Given the description of an element on the screen output the (x, y) to click on. 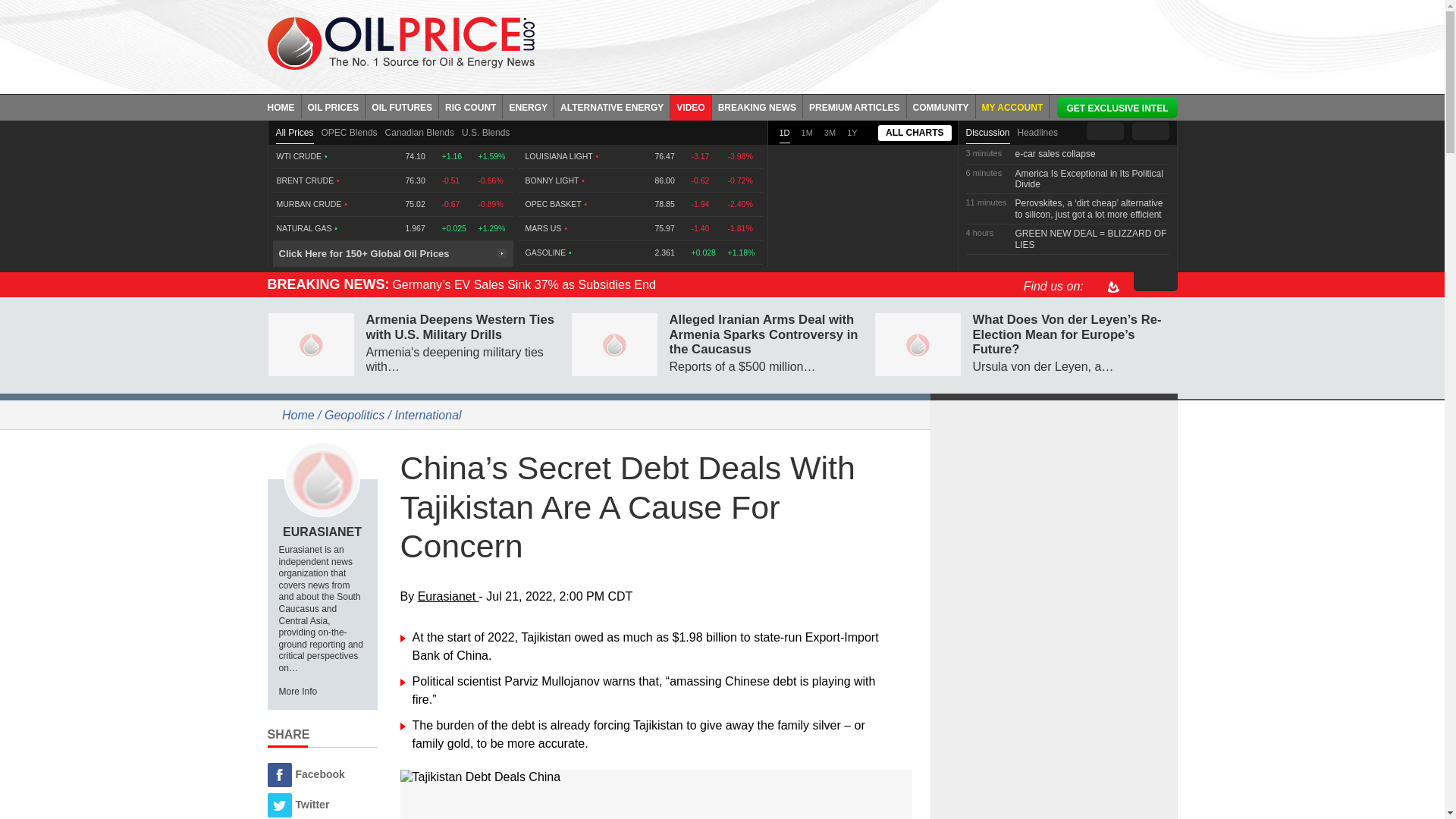
VIDEO (690, 106)
PREMIUM ARTICLES (855, 106)
ENERGY (528, 106)
OIL PRICES (333, 106)
Tajikistan Debt Deals China (656, 776)
MY ACCOUNT (1012, 106)
BREAKING NEWS (757, 106)
Eurasianet  (321, 478)
HOME (283, 106)
COMMUNITY (941, 106)
RIG COUNT (470, 106)
ALTERNATIVE ENERGY (611, 106)
OIL FUTURES (402, 106)
Oil prices - Oilprice.com (400, 42)
